Given the description of an element on the screen output the (x, y) to click on. 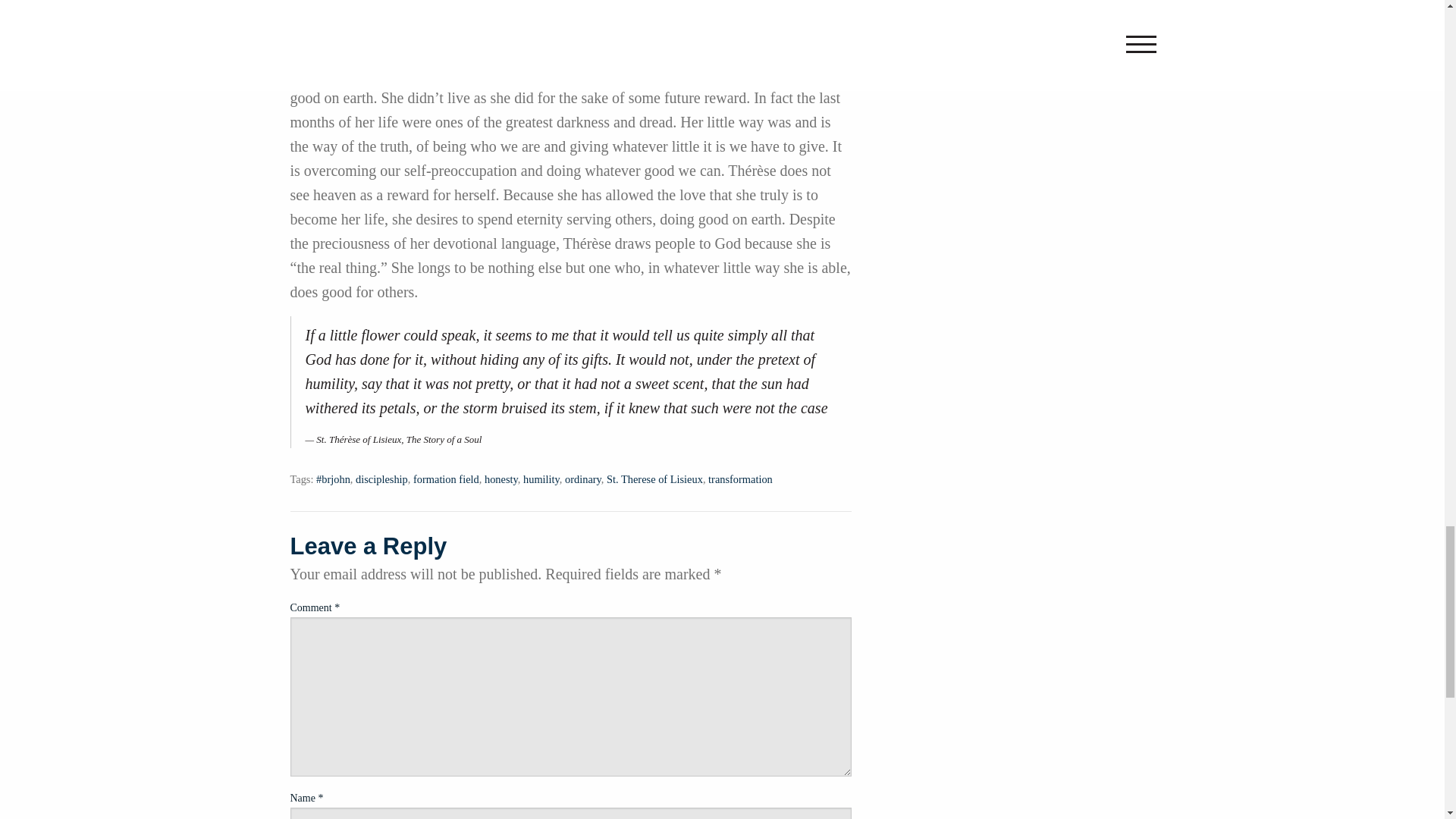
transformation (740, 479)
St. Therese of Lisieux (655, 479)
formation field (446, 479)
discipleship (381, 479)
honesty (501, 479)
humility (540, 479)
ordinary (582, 479)
